Given the description of an element on the screen output the (x, y) to click on. 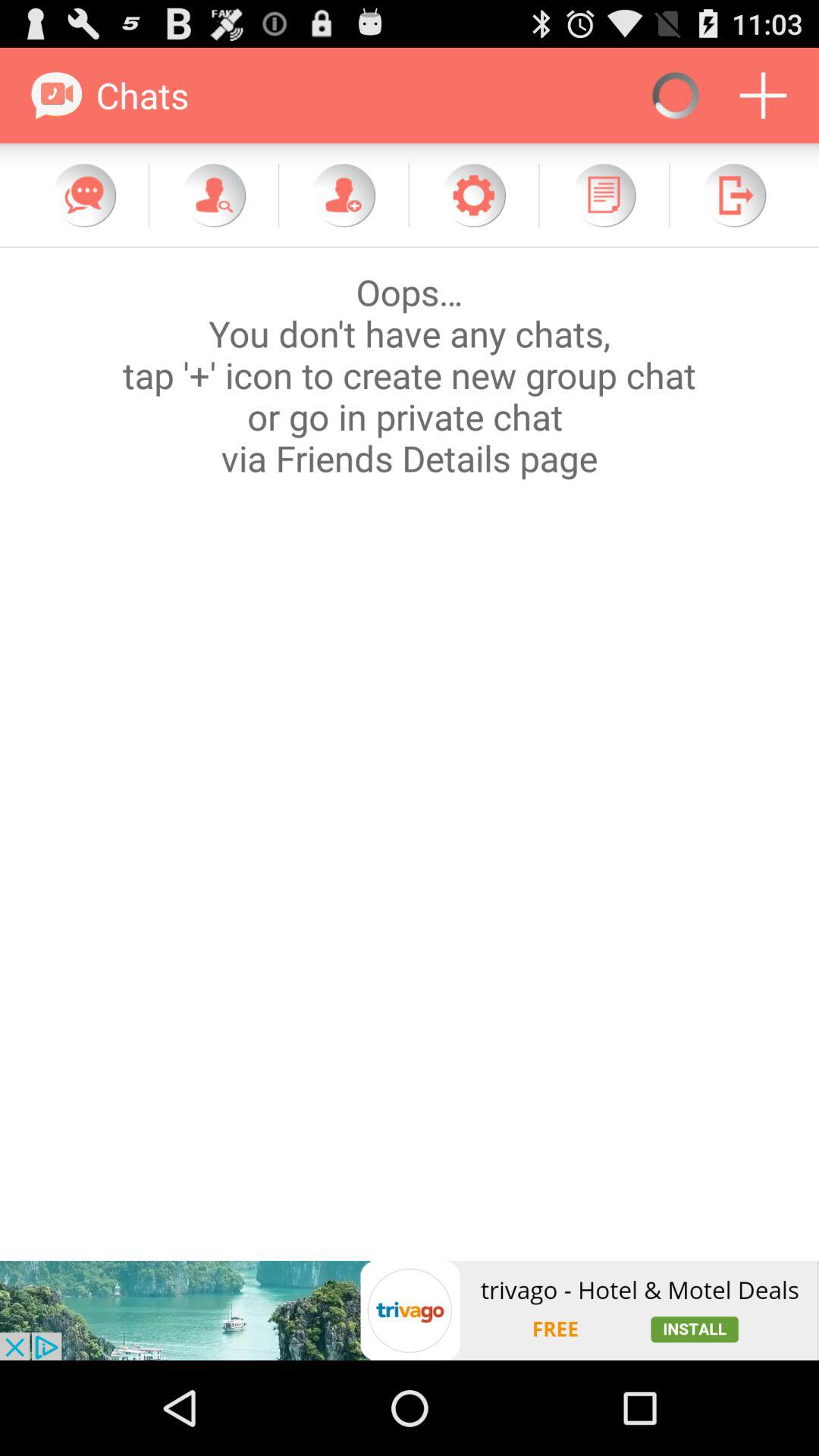
go to chat (84, 194)
